Given the description of an element on the screen output the (x, y) to click on. 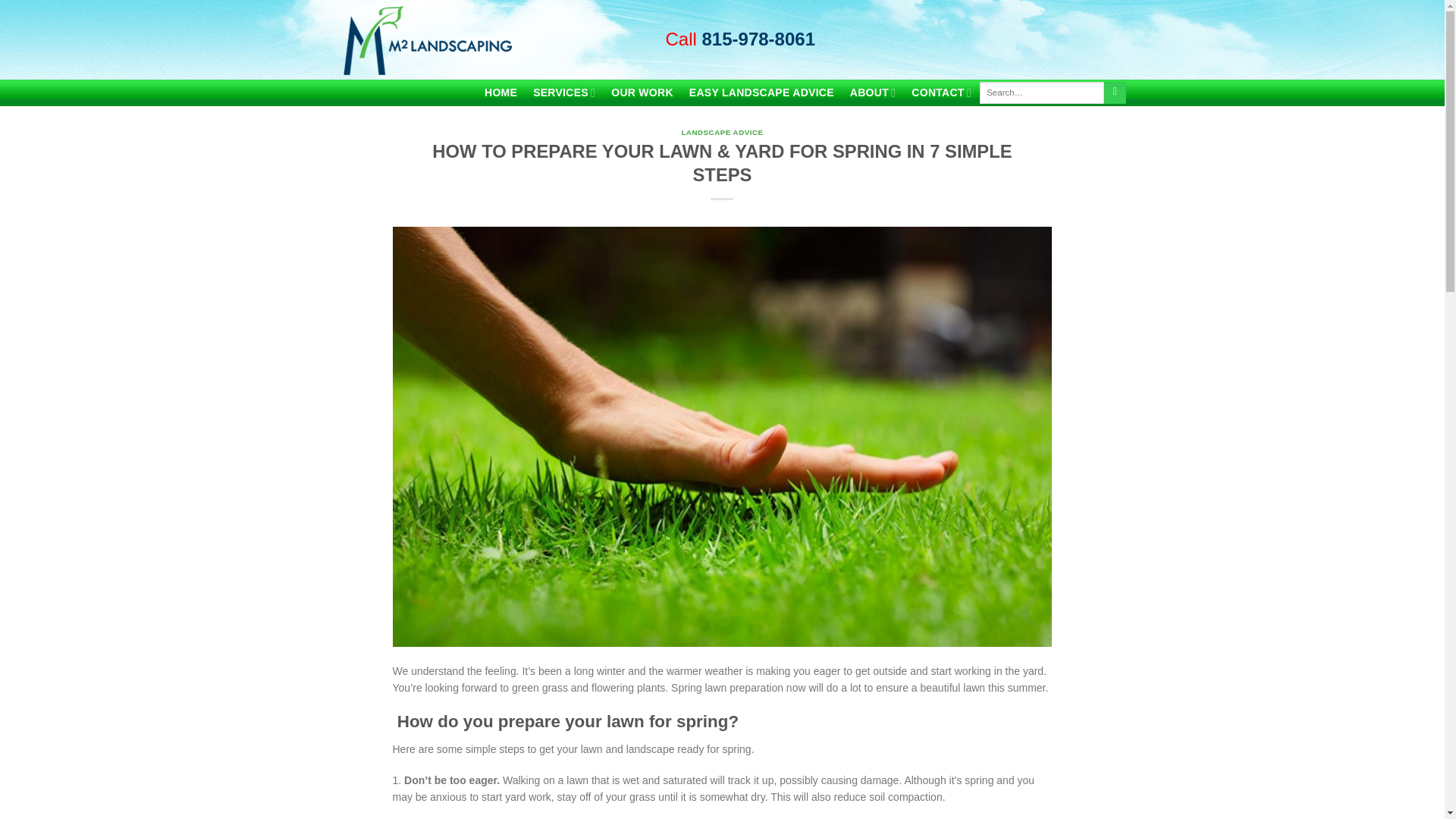
CONTACT (941, 92)
OUR WORK (642, 92)
ABOUT (872, 92)
EASY LANDSCAPE ADVICE (761, 92)
SERVICES (564, 92)
LANDSCAPE ADVICE (721, 131)
HOME (500, 92)
